Given the description of an element on the screen output the (x, y) to click on. 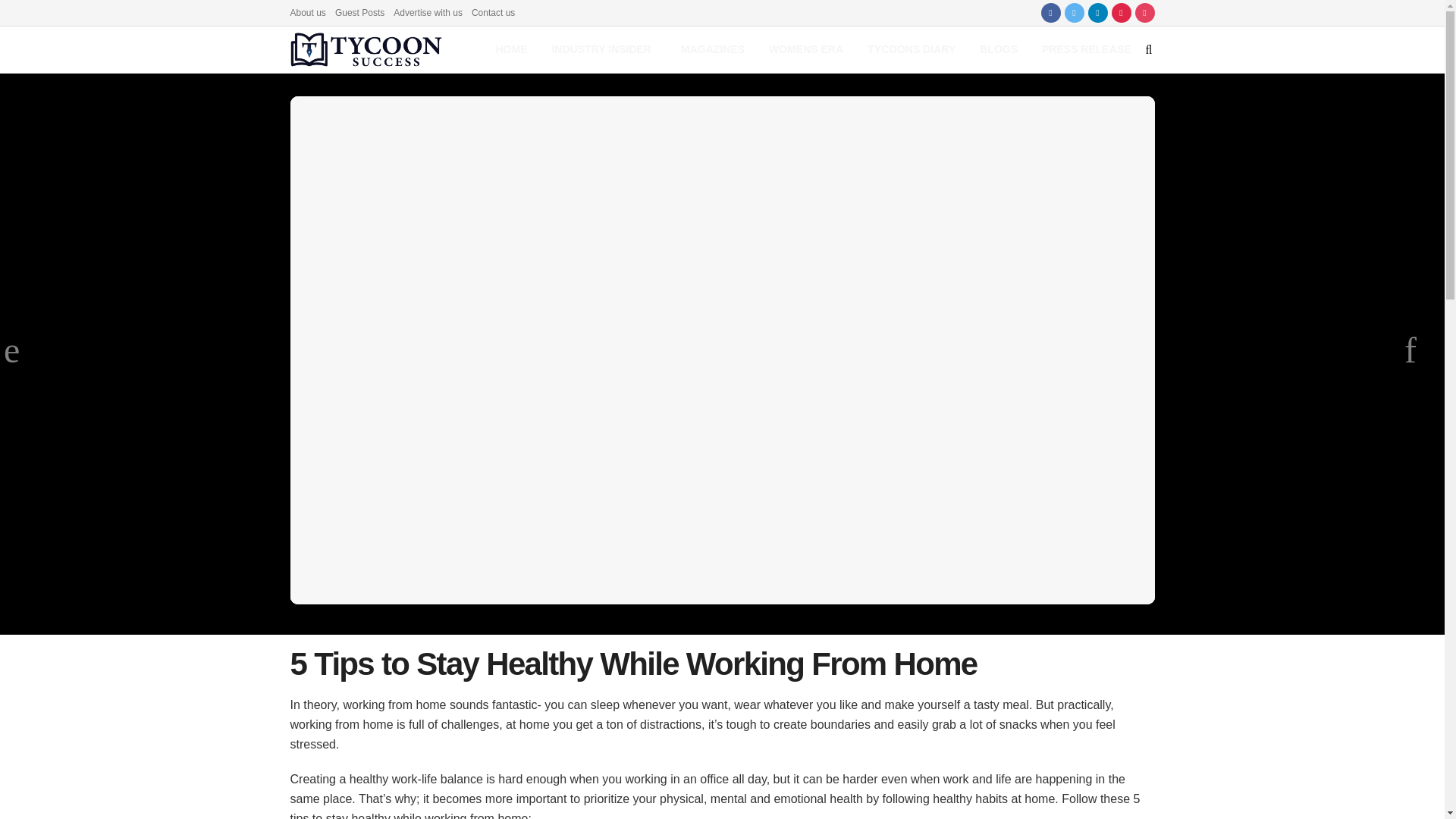
Advertise with us (428, 12)
About us (306, 12)
WOMENS ERA (806, 49)
TYCOONS DIARY (912, 49)
Guest Posts (359, 12)
HOME (510, 49)
Contact us (493, 12)
INDUSTRY INSIDER (603, 49)
PRESS RELEASE (1085, 49)
MAGAZINES (712, 49)
BLOGS (998, 49)
